Given the description of an element on the screen output the (x, y) to click on. 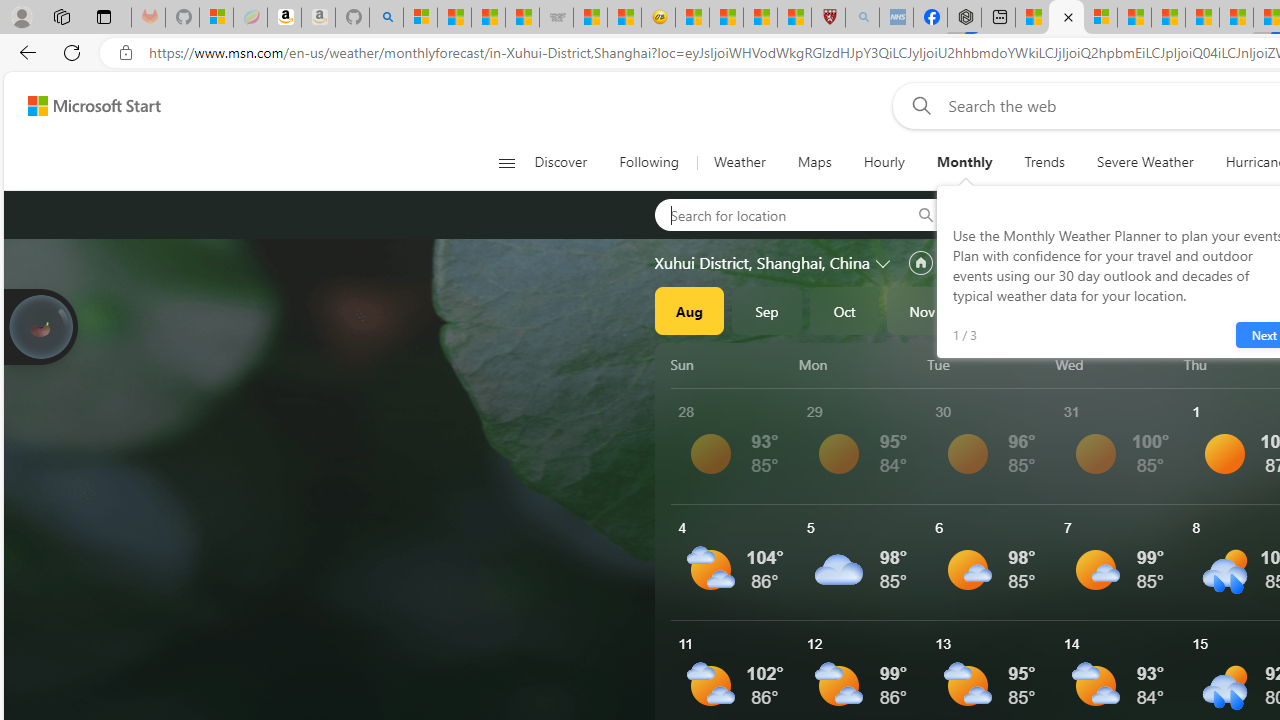
Set as primary location (920, 263)
Monthly (964, 162)
Sep (767, 310)
2025Jan (1077, 310)
Aug (689, 310)
Nordace - Nordace Siena Is Not An Ordinary Backpack (964, 17)
Feb (1155, 310)
Combat Siege (556, 17)
Skip to content (86, 105)
Aug (689, 310)
